Given the description of an element on the screen output the (x, y) to click on. 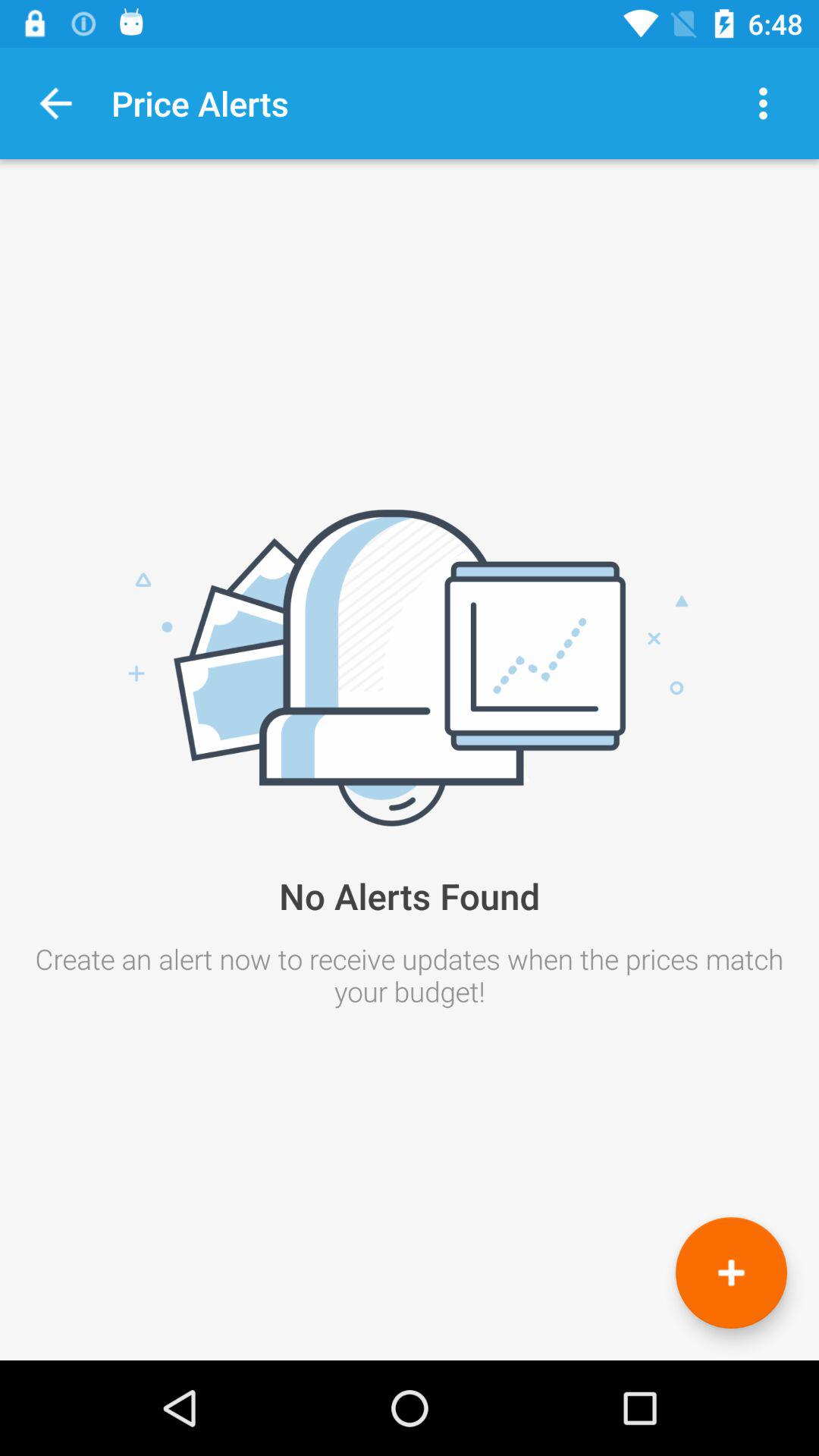
press item to the left of the price alerts (55, 103)
